Given the description of an element on the screen output the (x, y) to click on. 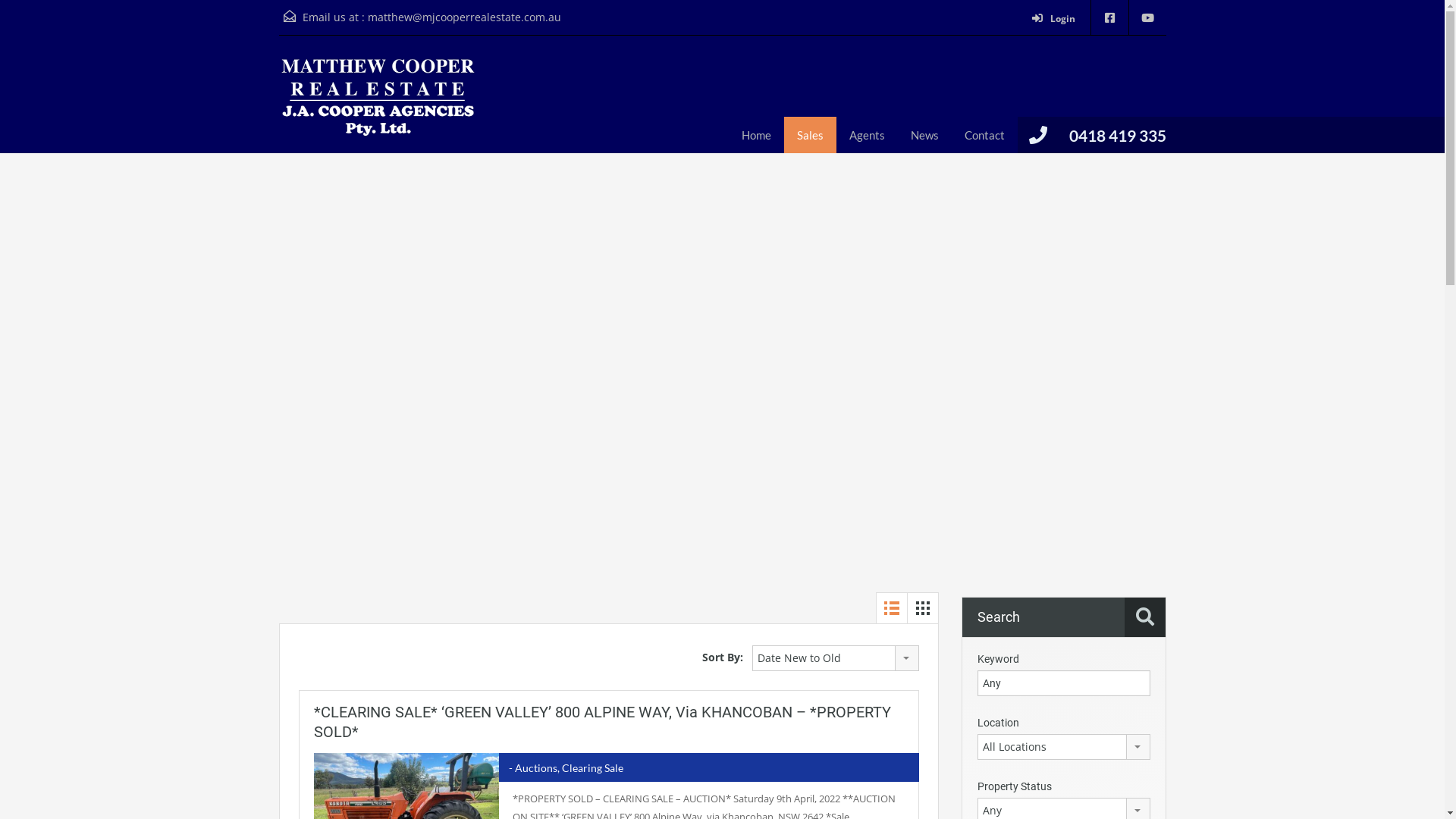
Sales Element type: text (810, 134)
Login Element type: text (1056, 19)
matthew@mjcooperrealestate.com.au Element type: text (463, 16)
Agents Element type: text (866, 134)
Date New to Old Element type: text (835, 658)
News Element type: text (924, 134)
0418 419 335 Element type: text (1117, 135)
Contact Element type: text (983, 134)
Home Element type: text (755, 134)
All Locations Element type: text (1062, 746)
Matthew Cooper Real Estate Corryong Element type: hover (377, 105)
